Given the description of an element on the screen output the (x, y) to click on. 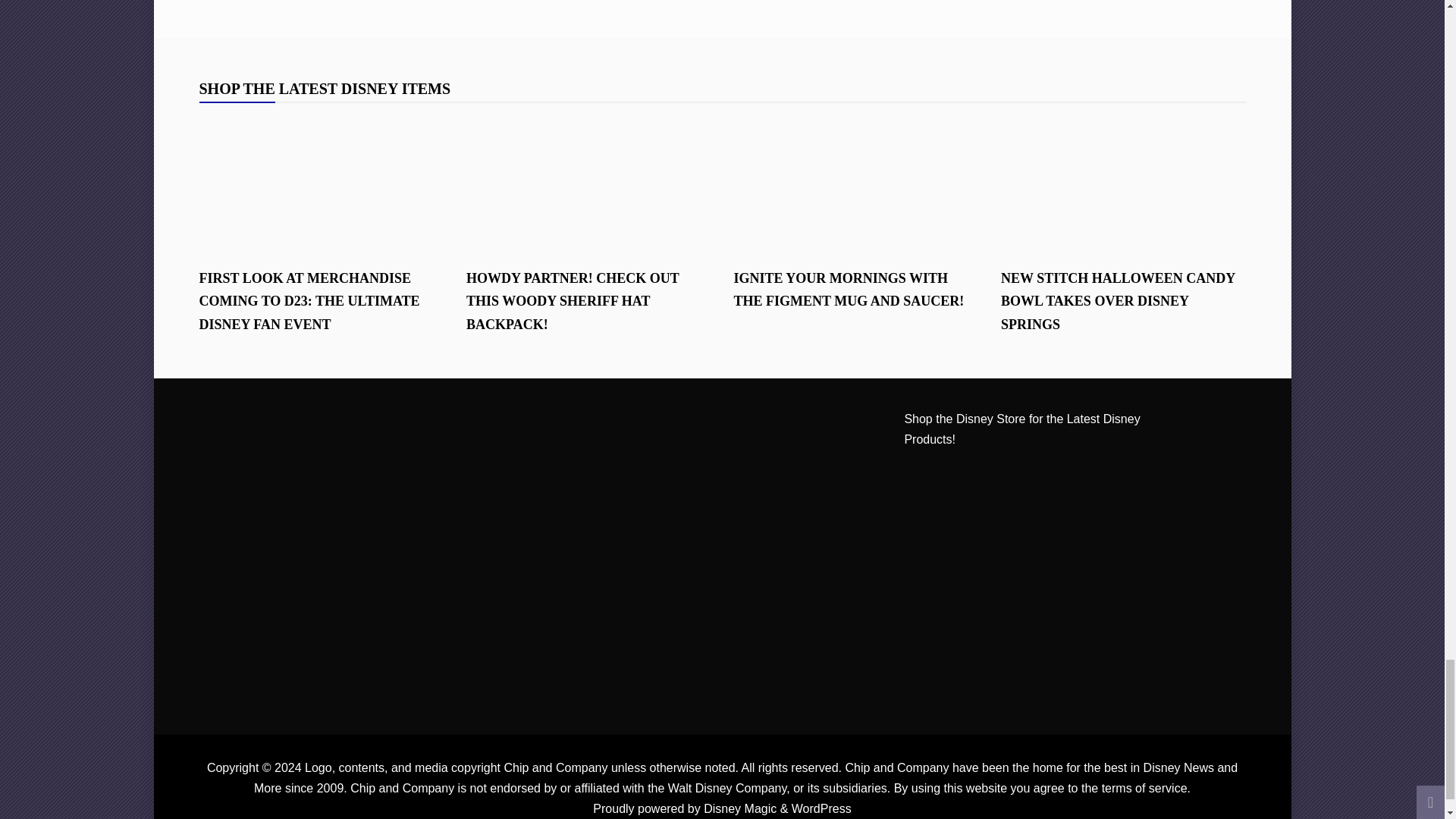
Howdy Partner! Check Out This Woody Sheriff Hat Backpack! (588, 184)
New Stitch Halloween Candy Bowl Takes Over Disney Springs (1123, 184)
Ignite Your Mornings With The Figment Mug and Saucer! (855, 184)
